Given the description of an element on the screen output the (x, y) to click on. 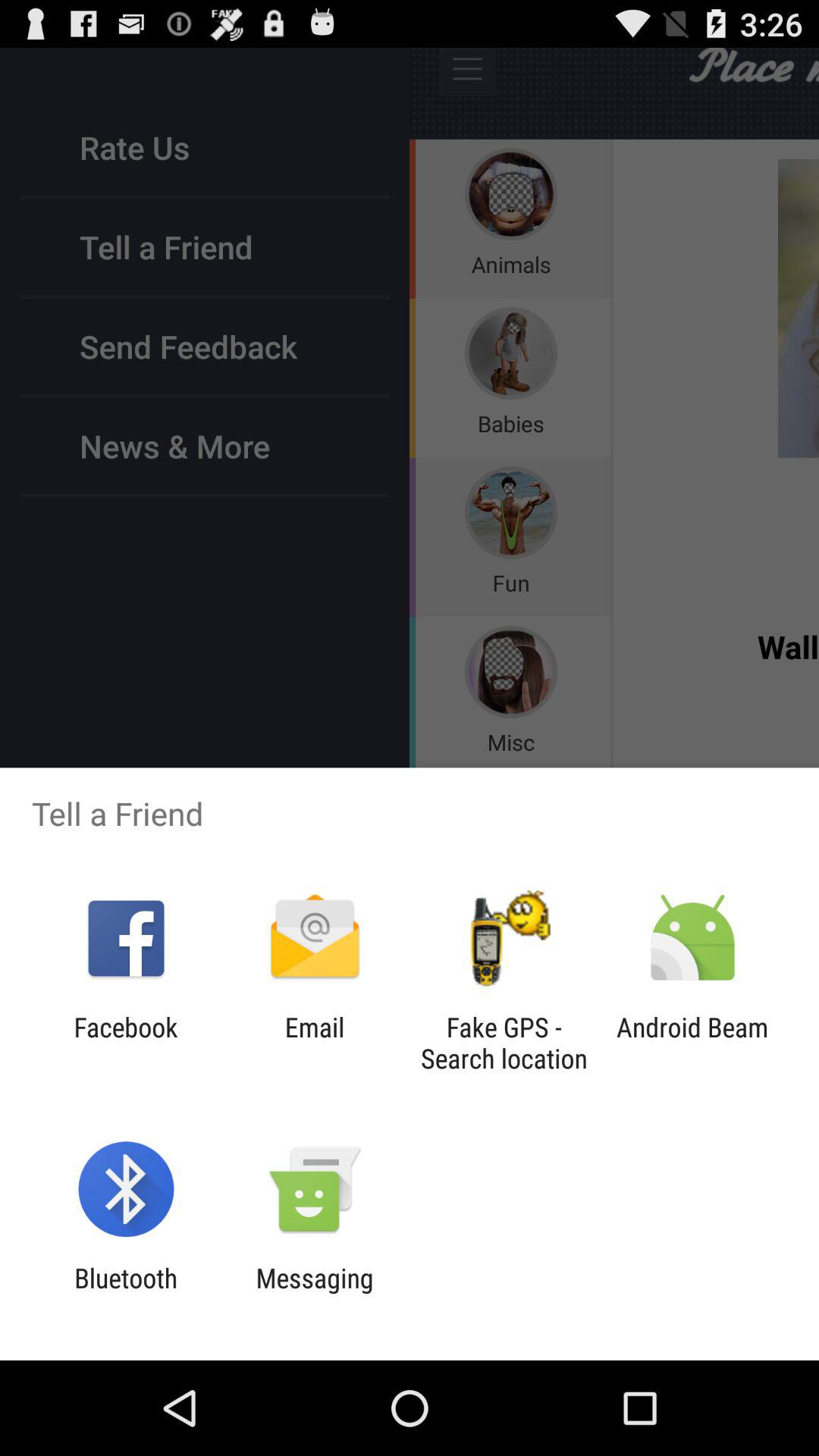
open icon next to the messaging item (125, 1293)
